Given the description of an element on the screen output the (x, y) to click on. 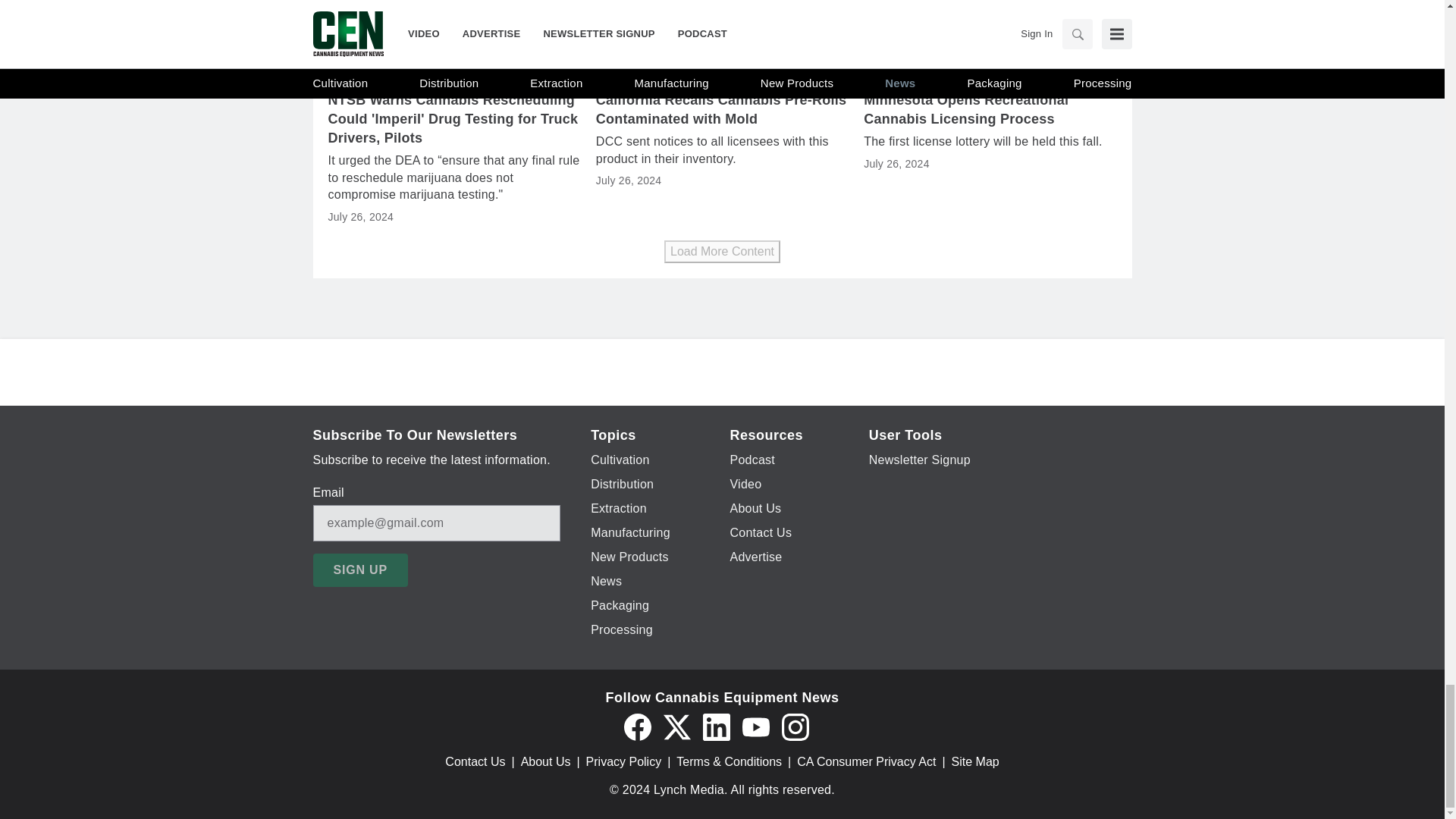
YouTube icon (754, 727)
Instagram icon (794, 727)
Facebook icon (636, 727)
LinkedIn icon (715, 727)
Twitter X icon (676, 727)
